Given the description of an element on the screen output the (x, y) to click on. 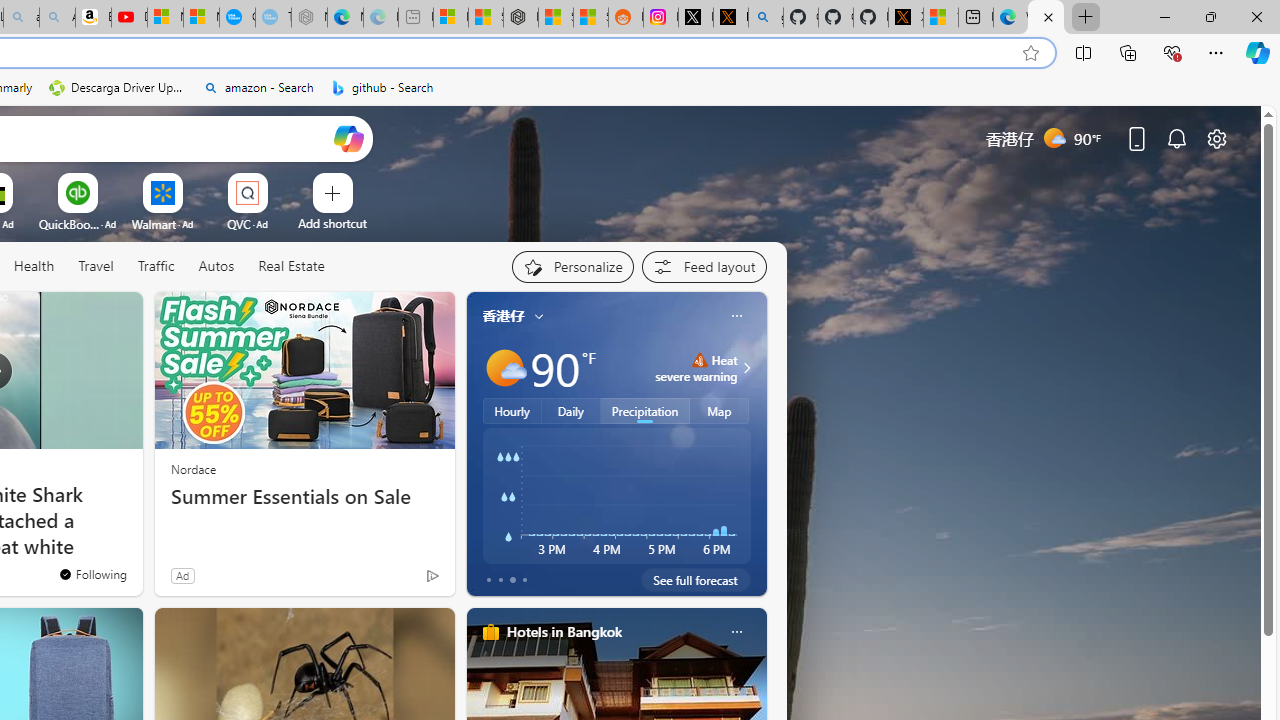
github - Search (381, 88)
Daily (571, 411)
Mostly sunny (504, 368)
Hourly (511, 411)
Traffic (155, 267)
tab-2 (511, 579)
Descarga Driver Updater (118, 88)
Add a site (332, 223)
Nordace (193, 468)
Heat - Severe (699, 359)
3 PM 4 PM 5 PM 6 PM (616, 495)
tab-0 (488, 579)
Travel (95, 267)
